Given the description of an element on the screen output the (x, y) to click on. 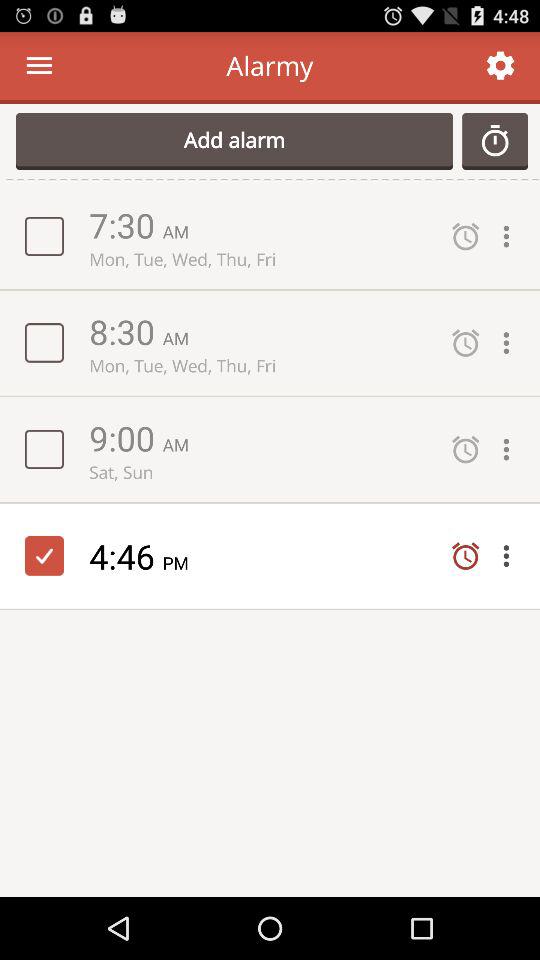
choose icon next to am item (125, 437)
